Given the description of an element on the screen output the (x, y) to click on. 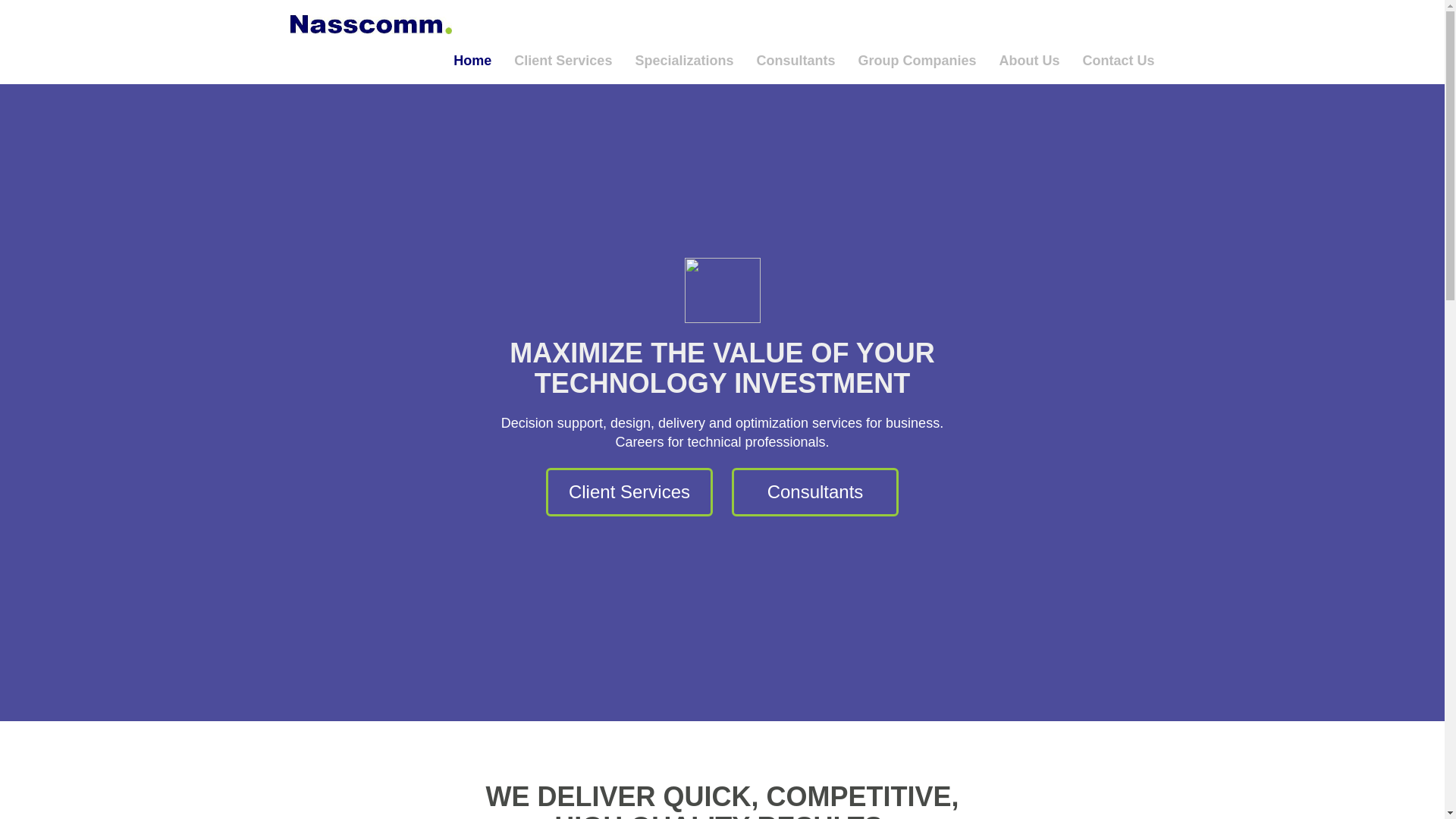
Consultants (815, 491)
Consultants (794, 65)
Group Companies (916, 65)
Home (472, 65)
Specializations (683, 65)
Contact Us (1112, 65)
Nasscomm, Inc. (371, 17)
Careers with Nasscomm (815, 491)
Client Services (562, 65)
Client Services (629, 491)
